Given the description of an element on the screen output the (x, y) to click on. 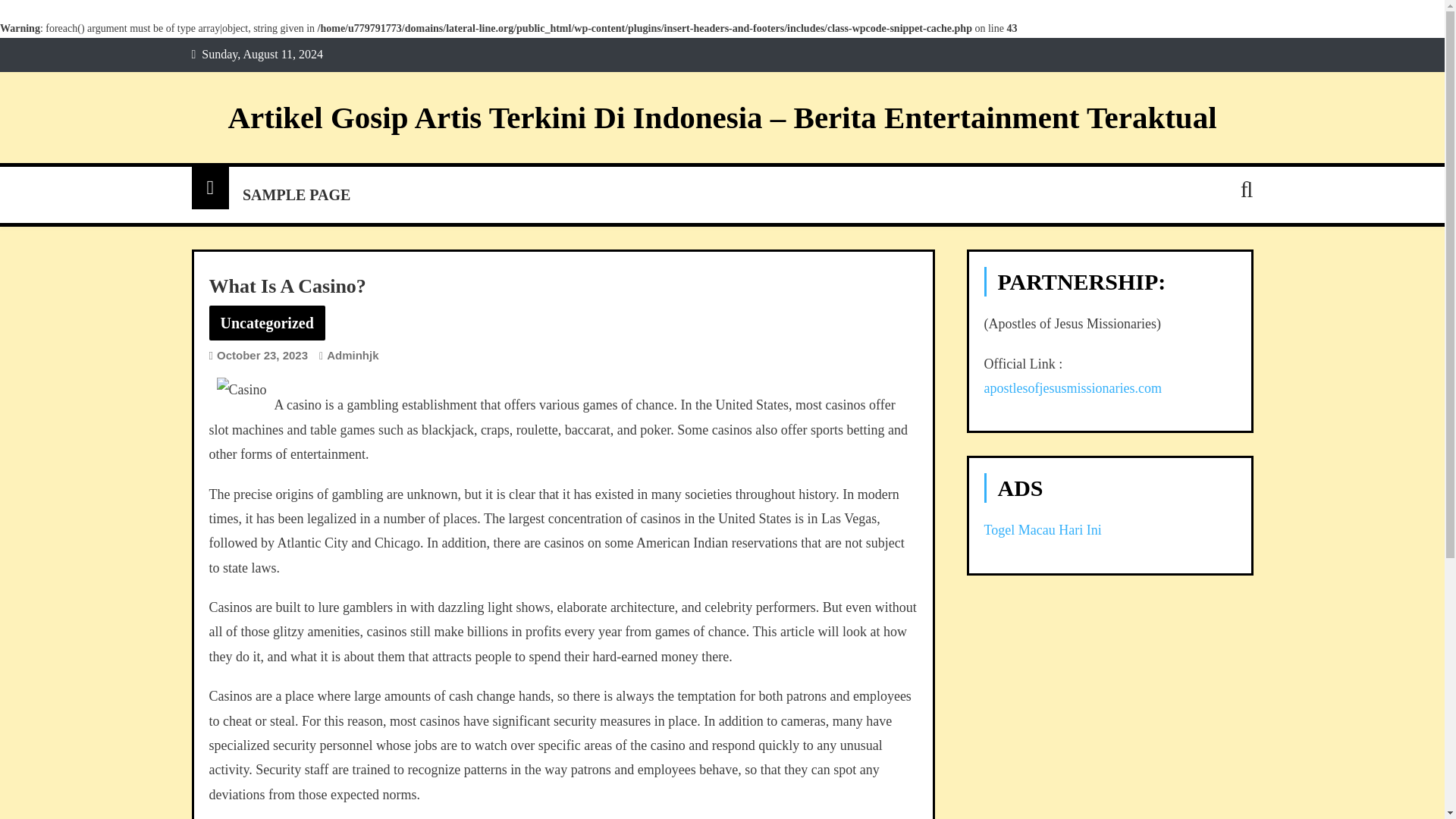
apostlesofjesusmissionaries.com (1072, 387)
Search (1221, 248)
Adminhjk (352, 354)
Togel Macau Hari Ini (1043, 529)
Uncategorized (266, 322)
October 23, 2023 (261, 354)
SAMPLE PAGE (296, 194)
